Given the description of an element on the screen output the (x, y) to click on. 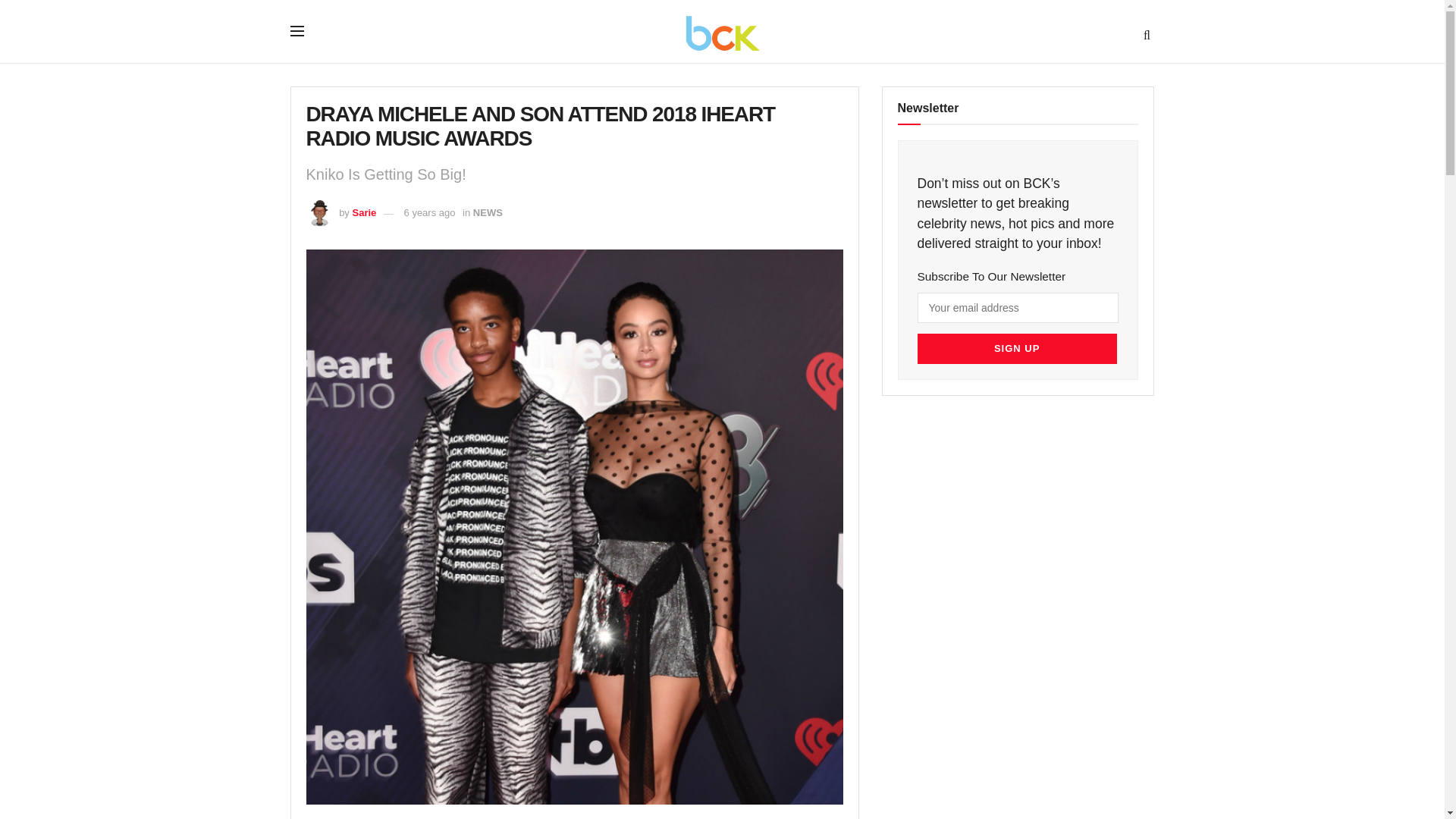
Sign up (1016, 348)
NEWS (487, 212)
Sarie (363, 212)
6 years ago (429, 212)
